Given the description of an element on the screen output the (x, y) to click on. 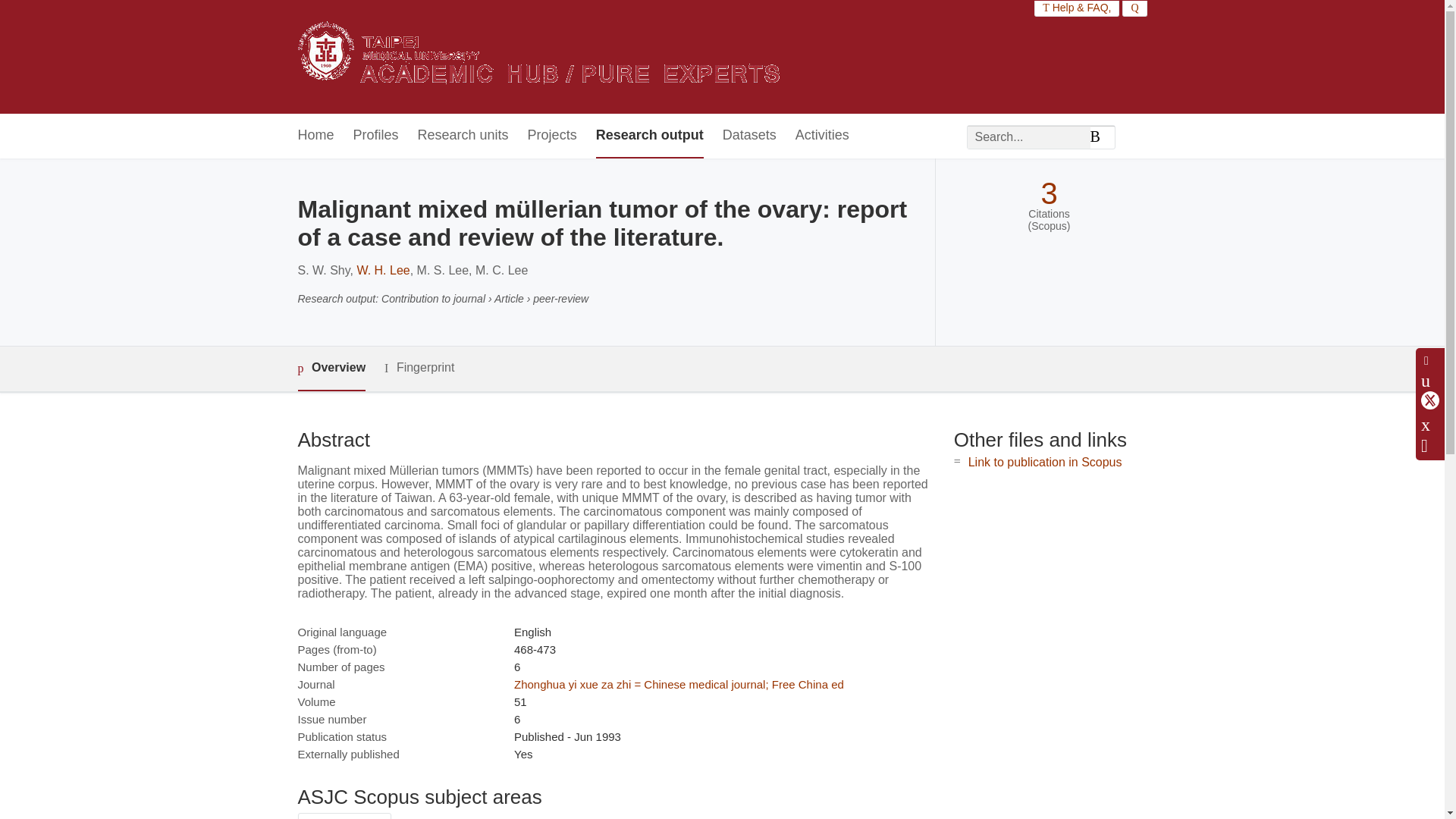
Taipei Medical University Home (537, 56)
Fingerprint (419, 367)
Datasets (749, 135)
Research units (462, 135)
Projects (551, 135)
Activities (821, 135)
Research output (649, 135)
Profiles (375, 135)
Overview (331, 368)
Link to publication in Scopus (1045, 461)
